Given the description of an element on the screen output the (x, y) to click on. 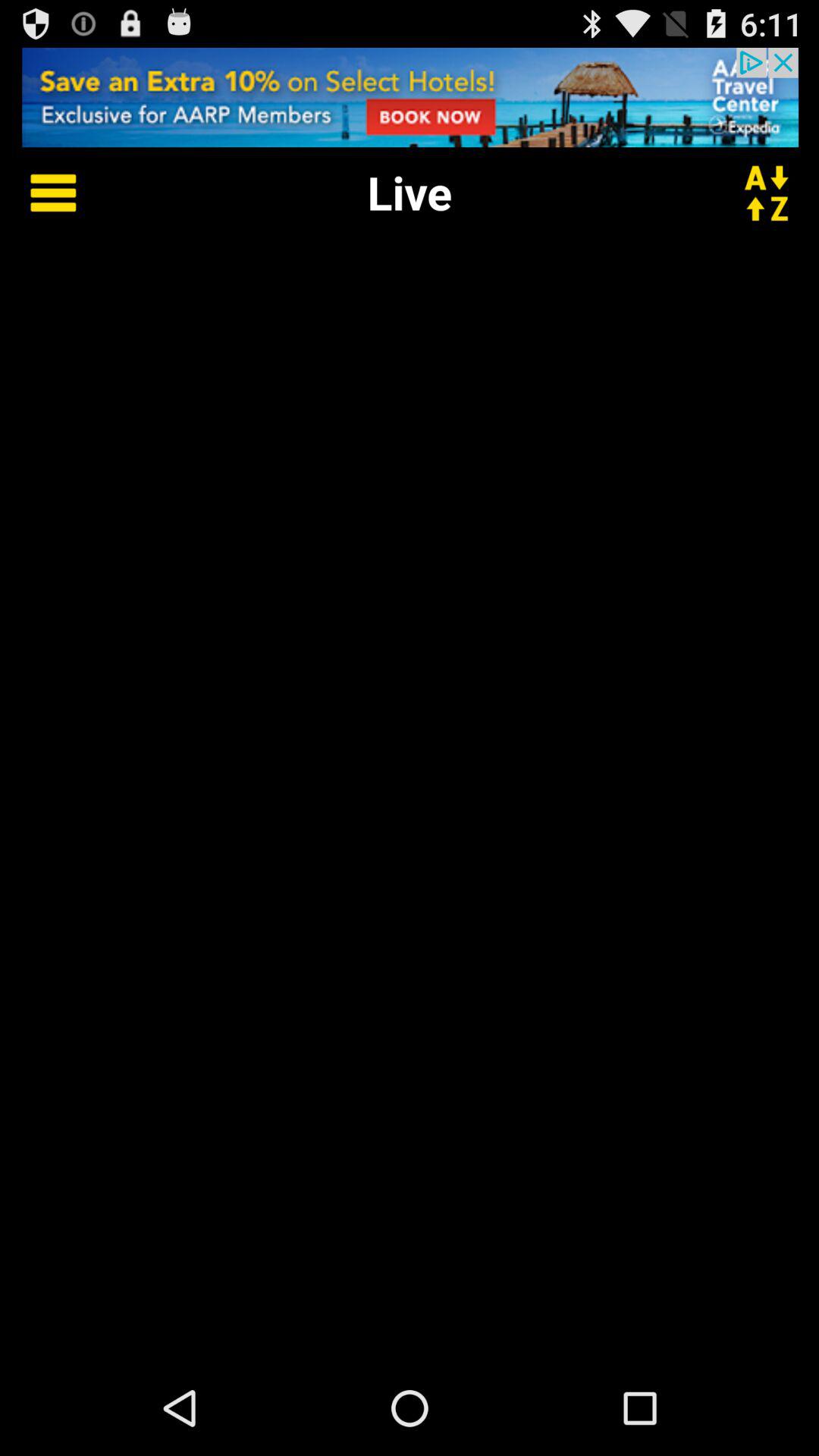
advertisement (409, 97)
